Given the description of an element on the screen output the (x, y) to click on. 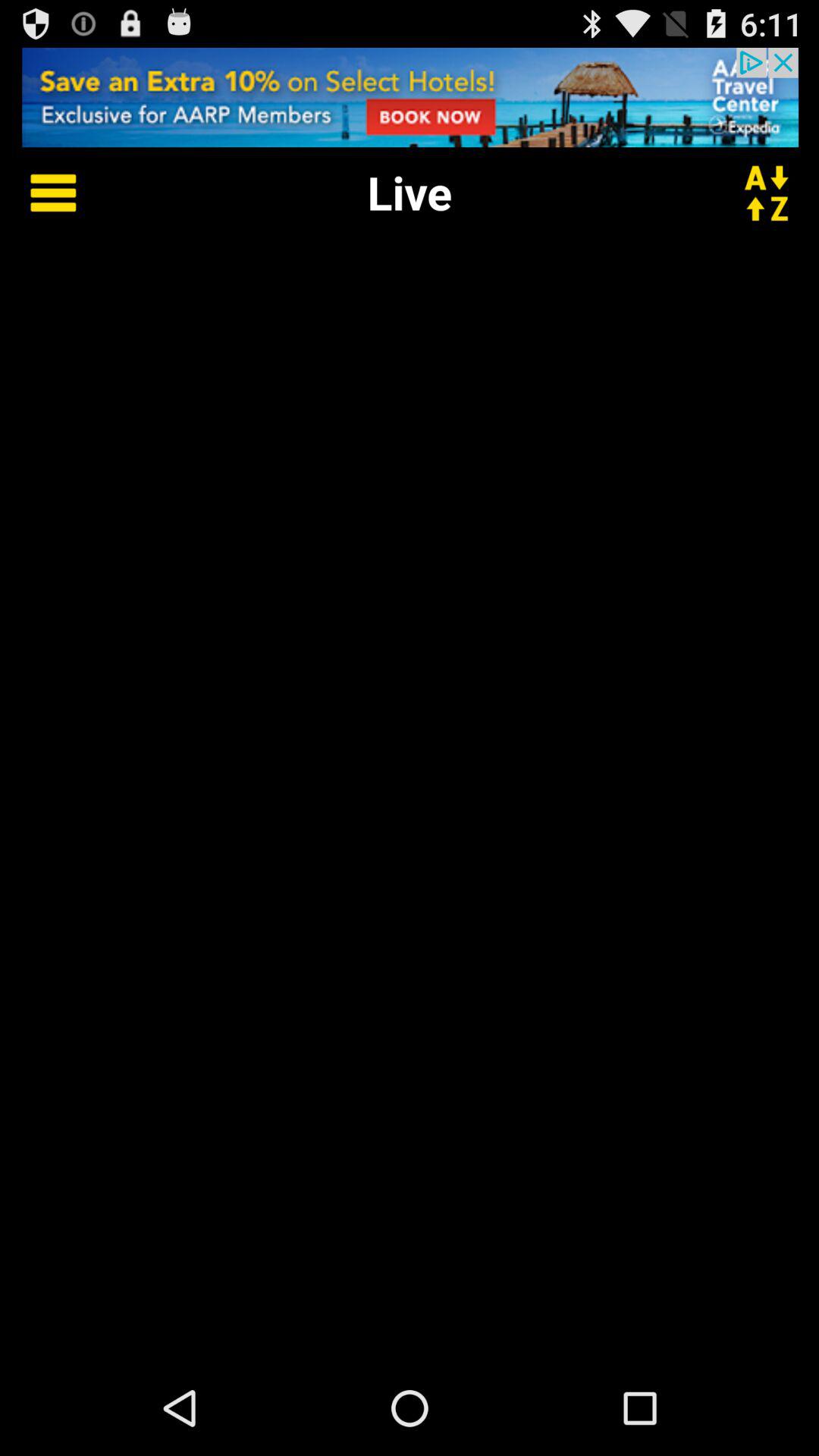
advertisement (409, 97)
